Given the description of an element on the screen output the (x, y) to click on. 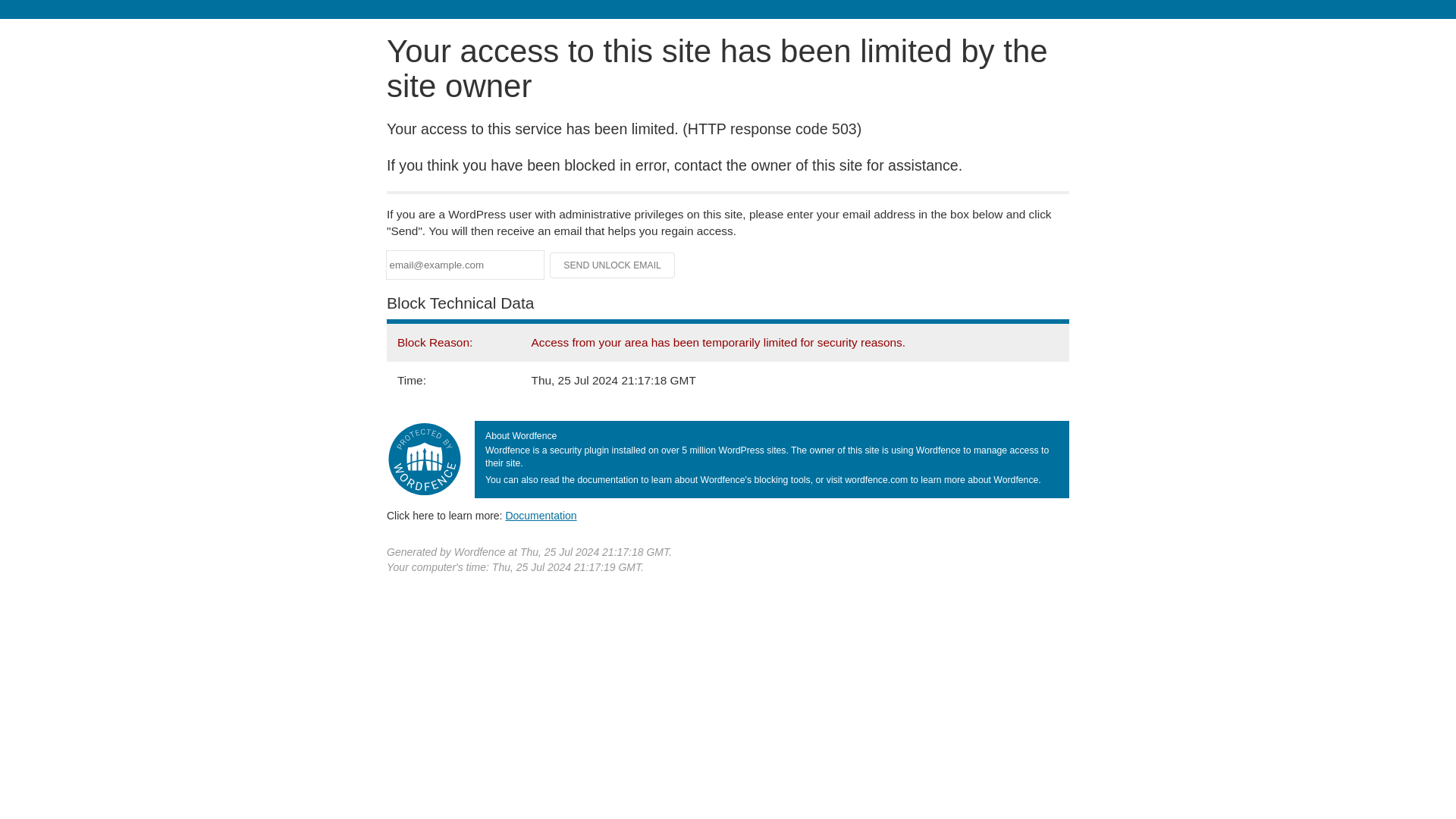
Documentation (540, 515)
Send Unlock Email (612, 265)
Send Unlock Email (612, 265)
